Given the description of an element on the screen output the (x, y) to click on. 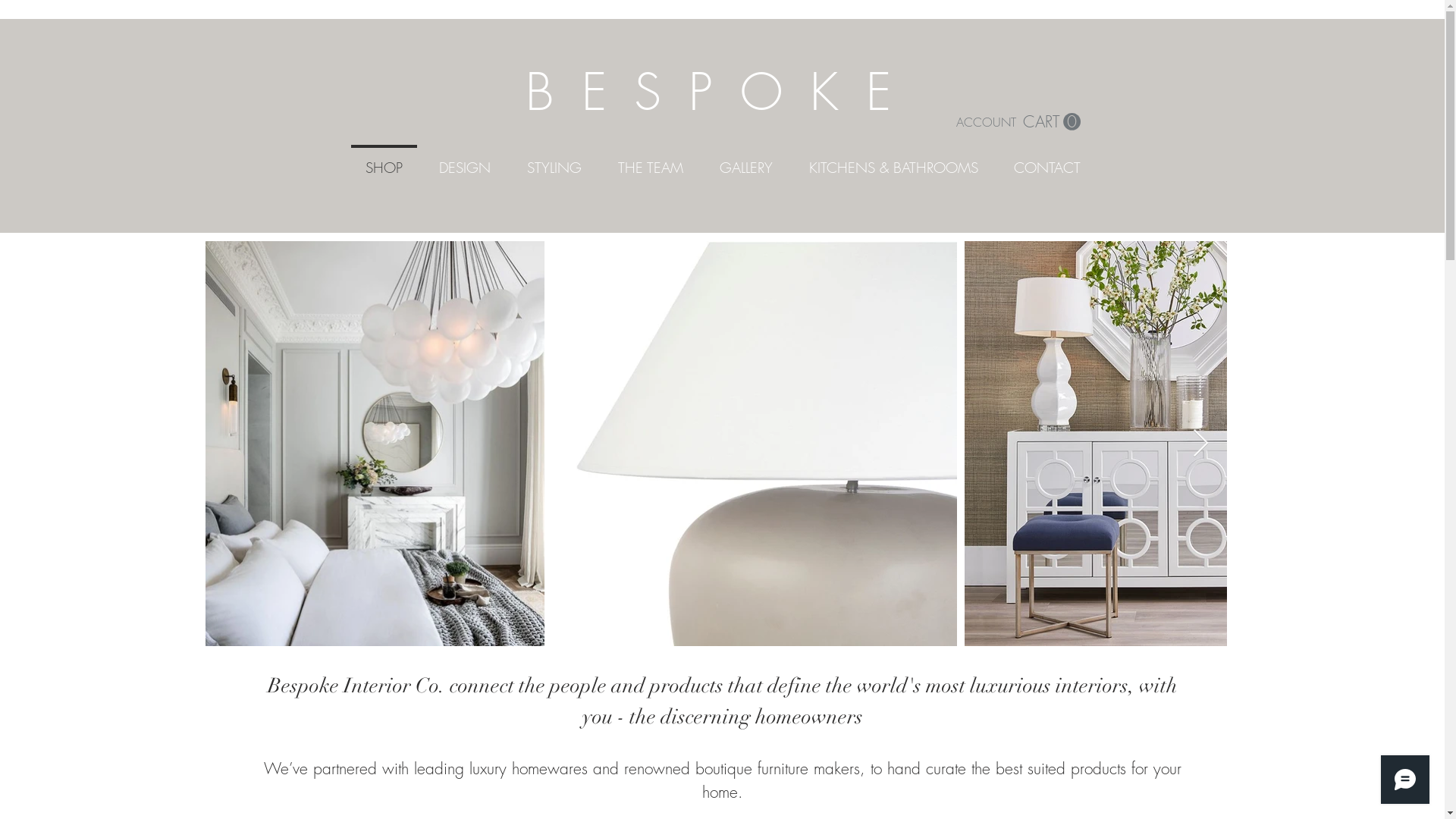
CONTACT Element type: text (1047, 160)
STYLING Element type: text (553, 160)
GALLERY Element type: text (745, 160)
THE TEAM Element type: text (649, 160)
KITCHENS & BATHROOMS Element type: text (892, 160)
0
CART Element type: text (1050, 121)
SHOP Element type: text (383, 160)
DESIGN Element type: text (464, 160)
ACCOUNT Element type: text (985, 121)
